Given the description of an element on the screen output the (x, y) to click on. 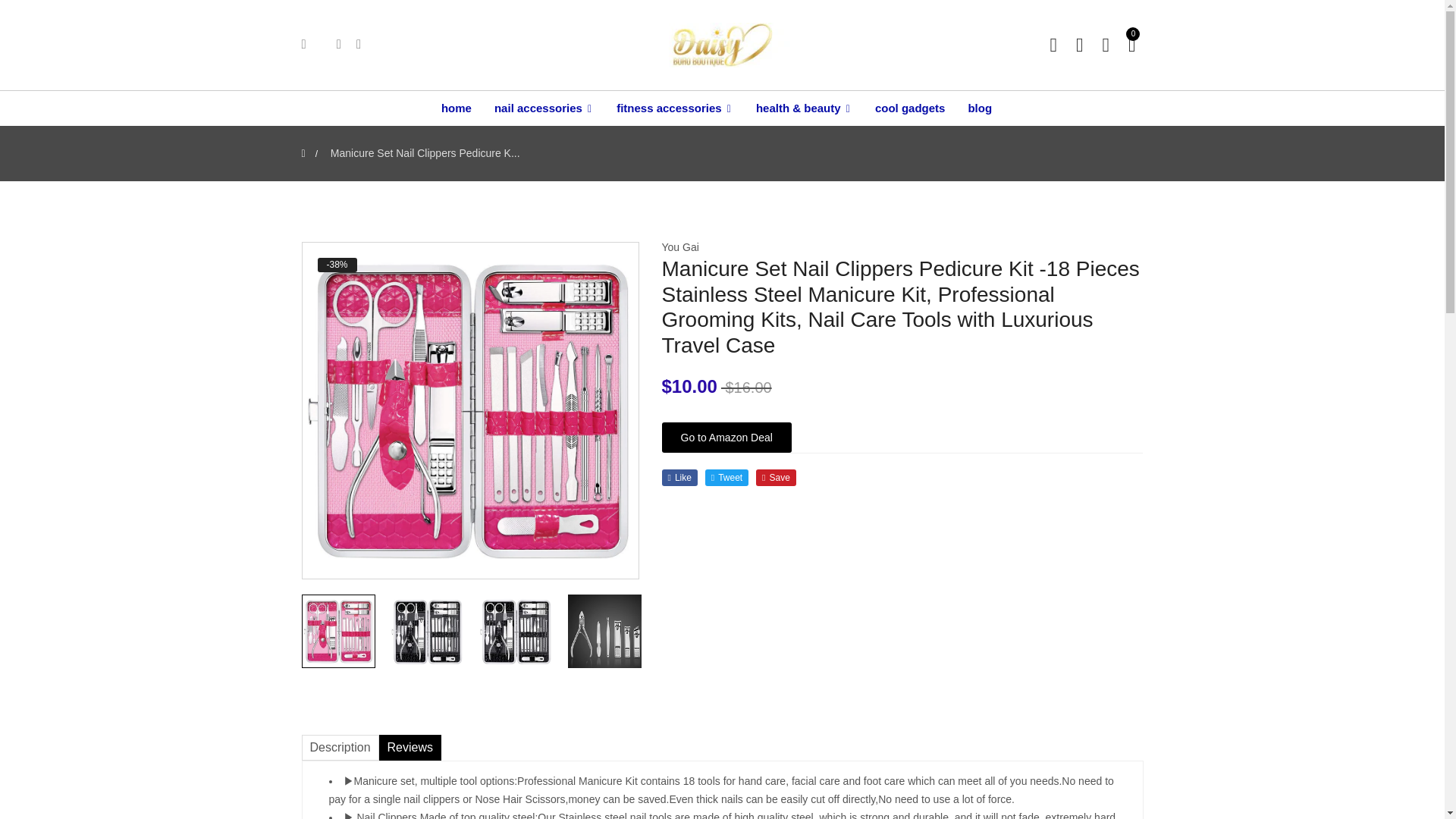
Follow us on Pinterest (775, 477)
Share on Facebook (679, 477)
Share on Twitter (726, 477)
fitness accessories (674, 108)
home (462, 108)
nail accessories (544, 108)
